Given the description of an element on the screen output the (x, y) to click on. 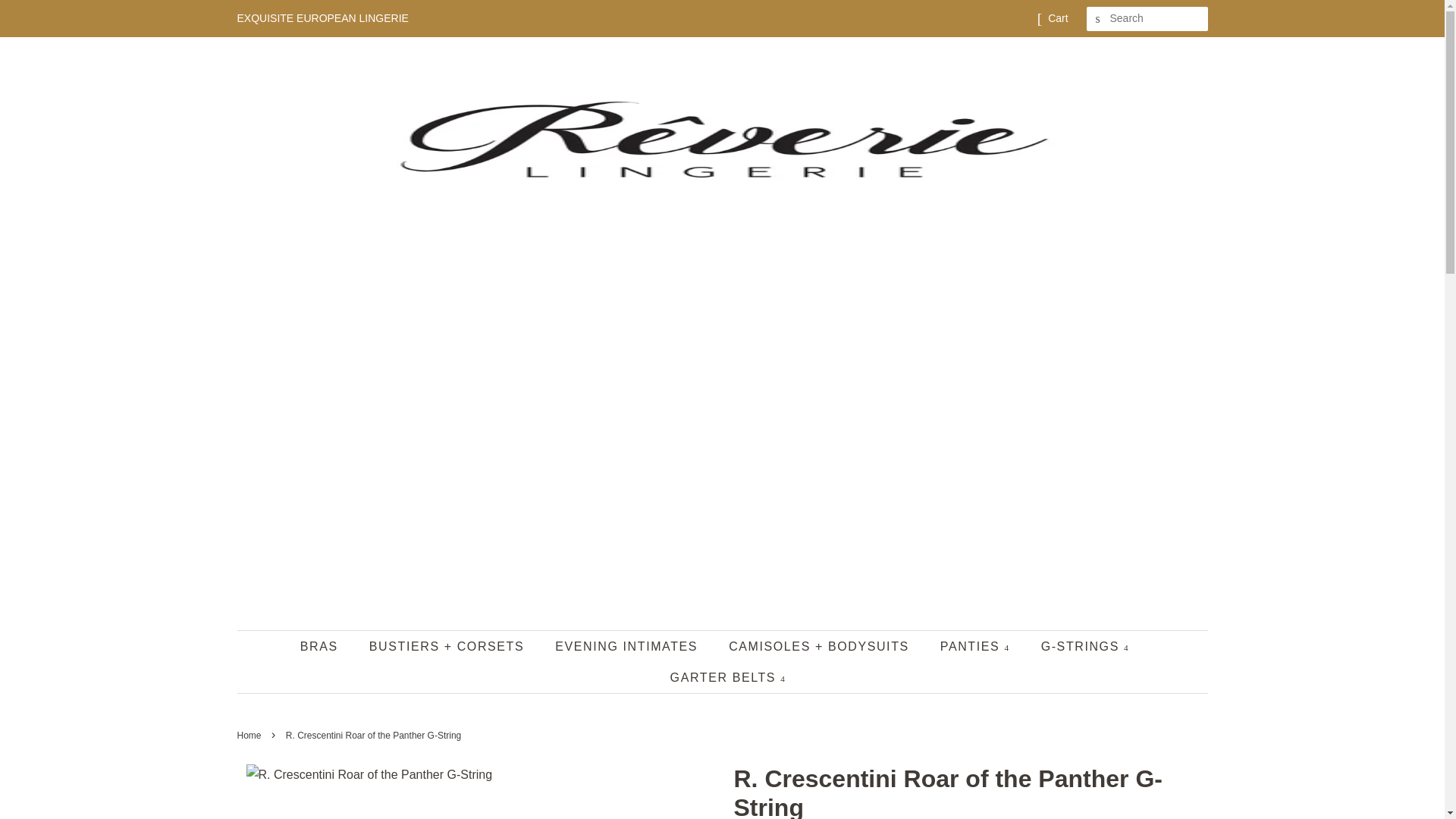
Back to the frontpage (249, 735)
BRAS (326, 645)
G-STRINGS (1086, 645)
GARTER BELTS (722, 676)
PANTIES (976, 645)
Cart (1057, 18)
SEARCH (1097, 18)
Home (249, 735)
EVENING INTIMATES (628, 645)
